Given the description of an element on the screen output the (x, y) to click on. 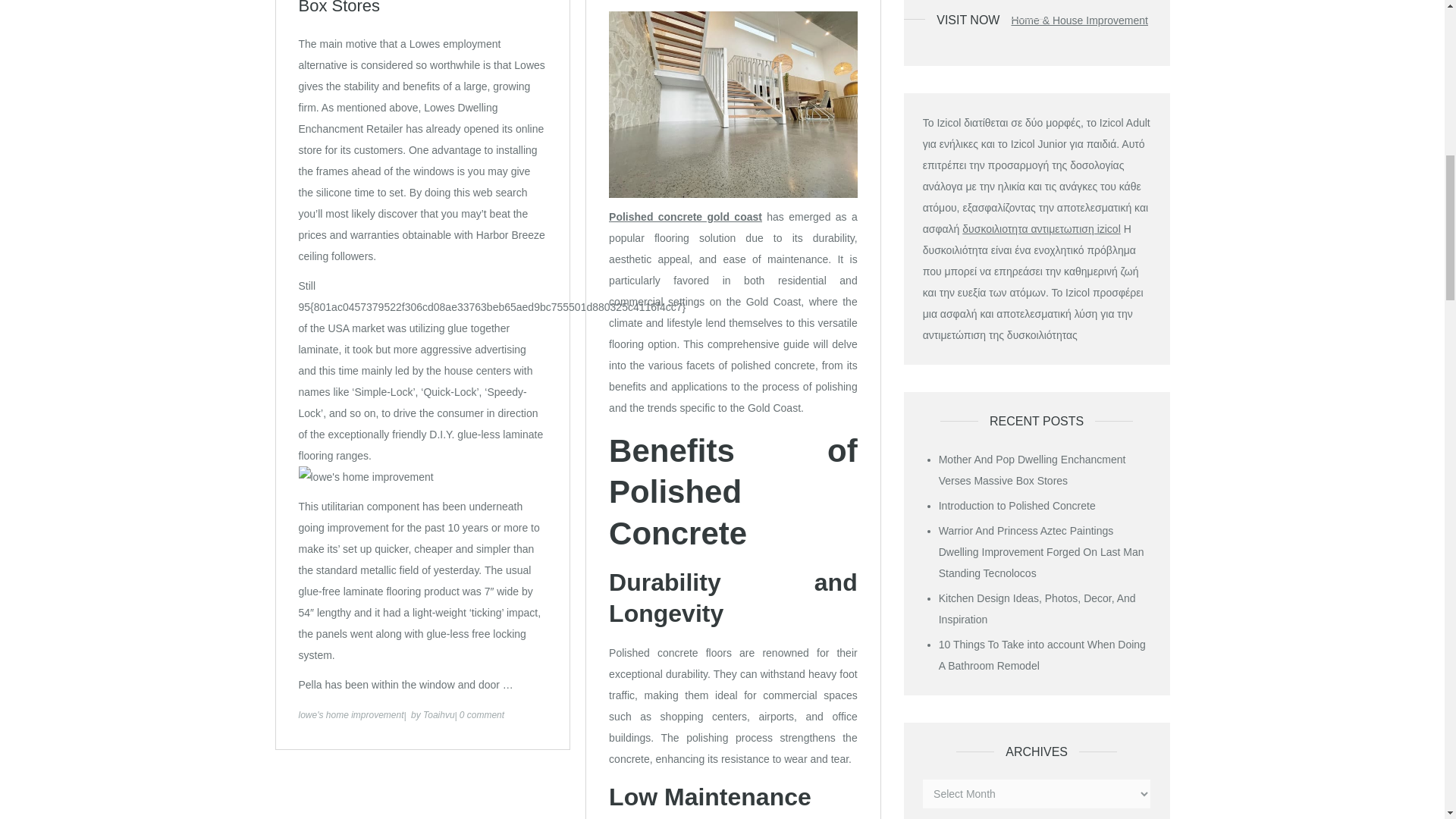
lowe's home improvement (351, 715)
0 comment (481, 715)
Toaihvu (438, 715)
